Given the description of an element on the screen output the (x, y) to click on. 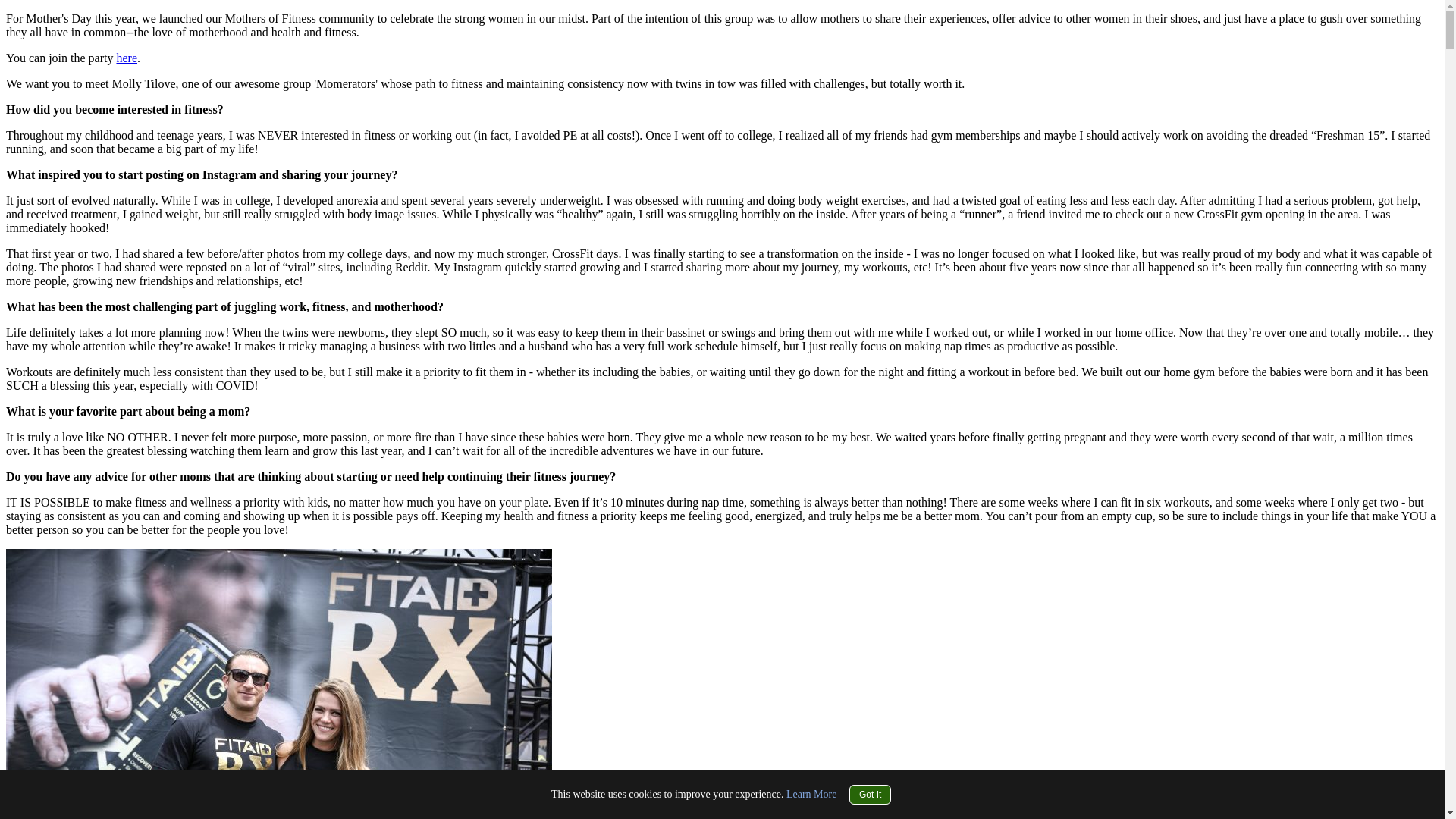
Learn More (810, 794)
Learn More (810, 794)
Got It (869, 794)
here (126, 57)
